Given the description of an element on the screen output the (x, y) to click on. 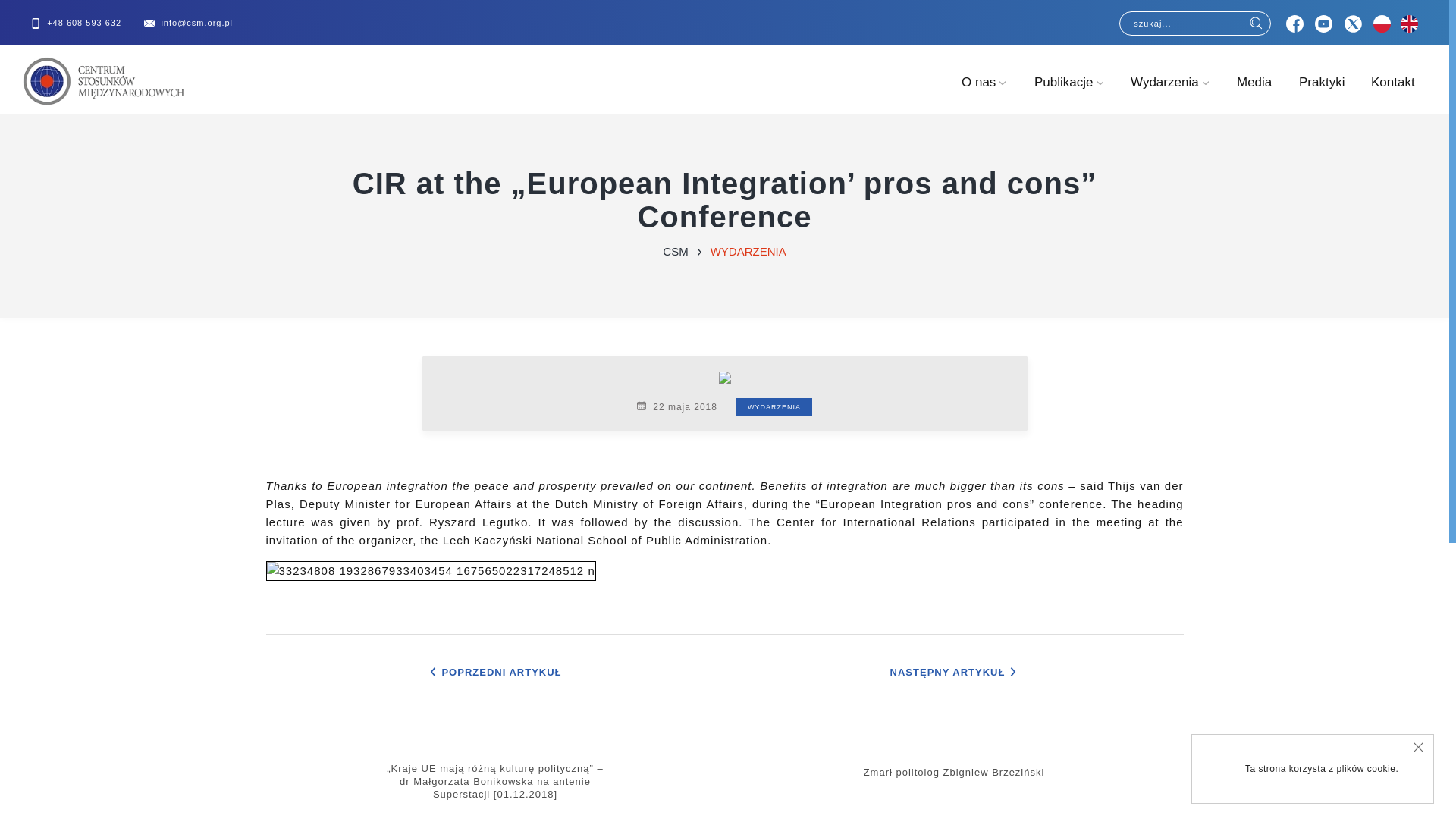
O nas (983, 95)
Publikacje (1069, 95)
Kontakt (1393, 95)
Media (1253, 95)
Wydarzenia (1170, 95)
CSM (674, 250)
Praktyki (1320, 95)
